Given the description of an element on the screen output the (x, y) to click on. 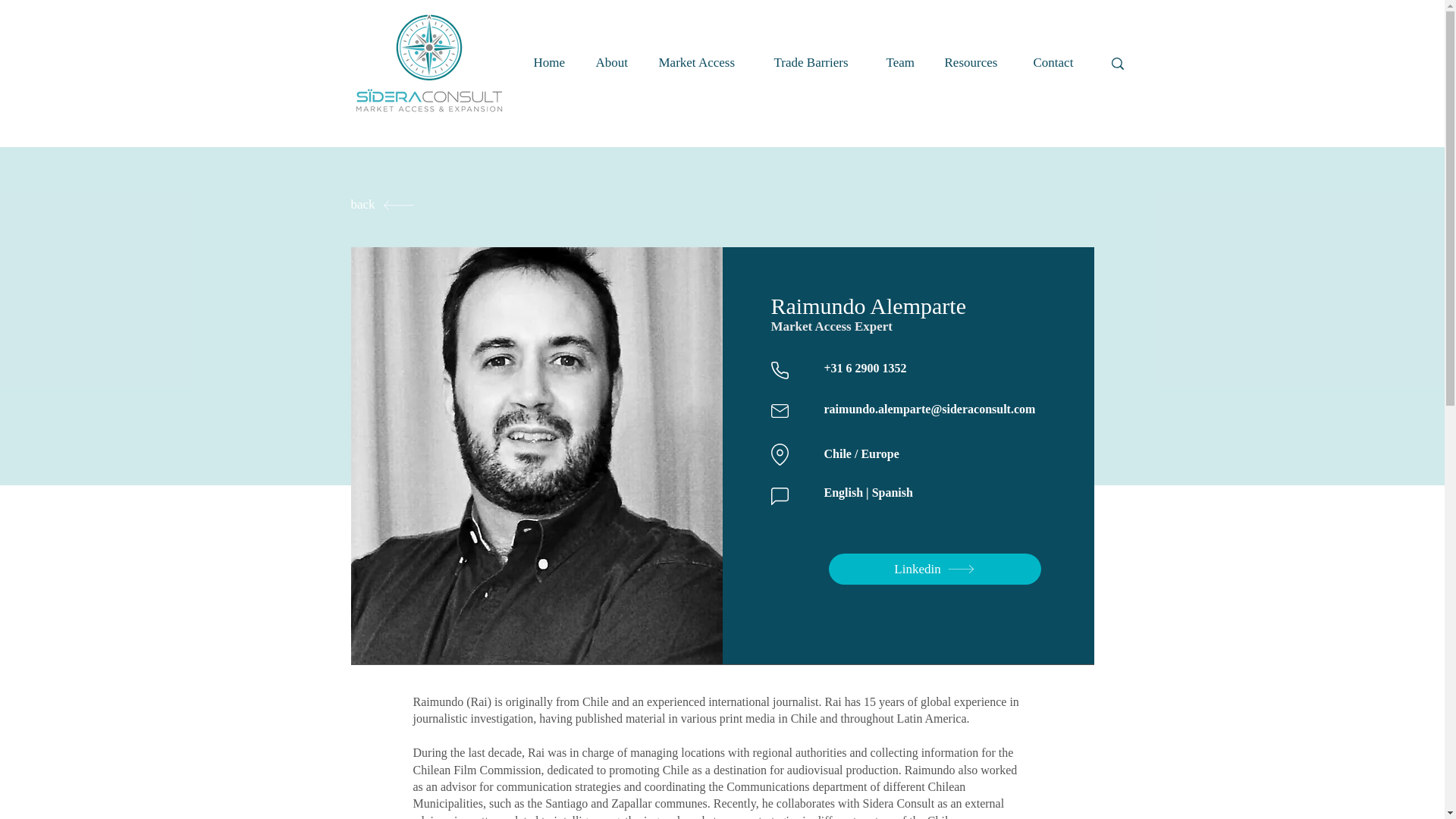
Linkedin (934, 568)
About (614, 60)
Team (904, 60)
back (459, 204)
Trade Barriers (818, 60)
Home (552, 60)
Market Access (704, 60)
